Given the description of an element on the screen output the (x, y) to click on. 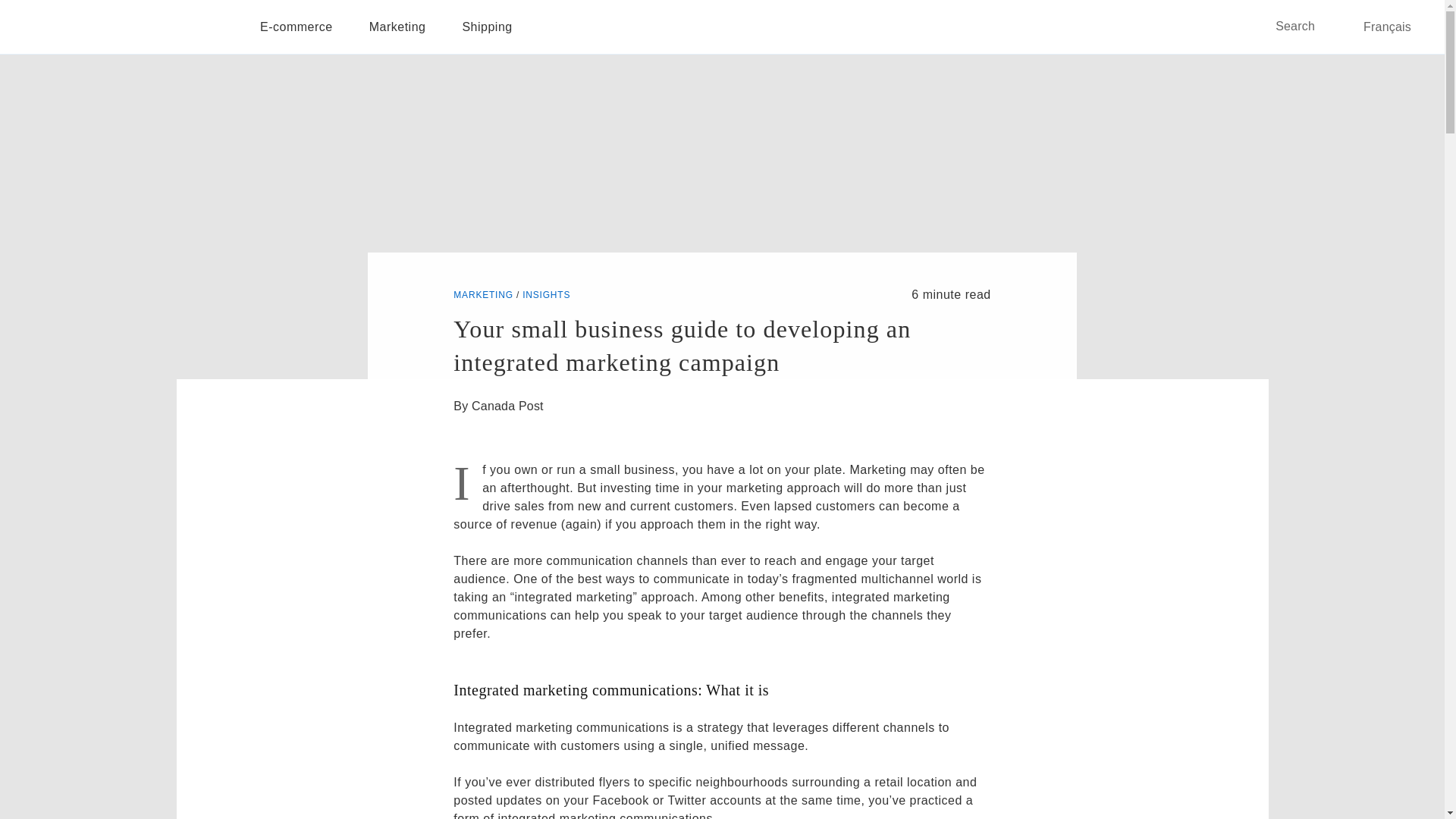
Marketing (397, 27)
MARKETING (482, 294)
Search (1305, 26)
Shipping (486, 27)
INSIGHTS (546, 294)
E-commerce (295, 27)
